Given the description of an element on the screen output the (x, y) to click on. 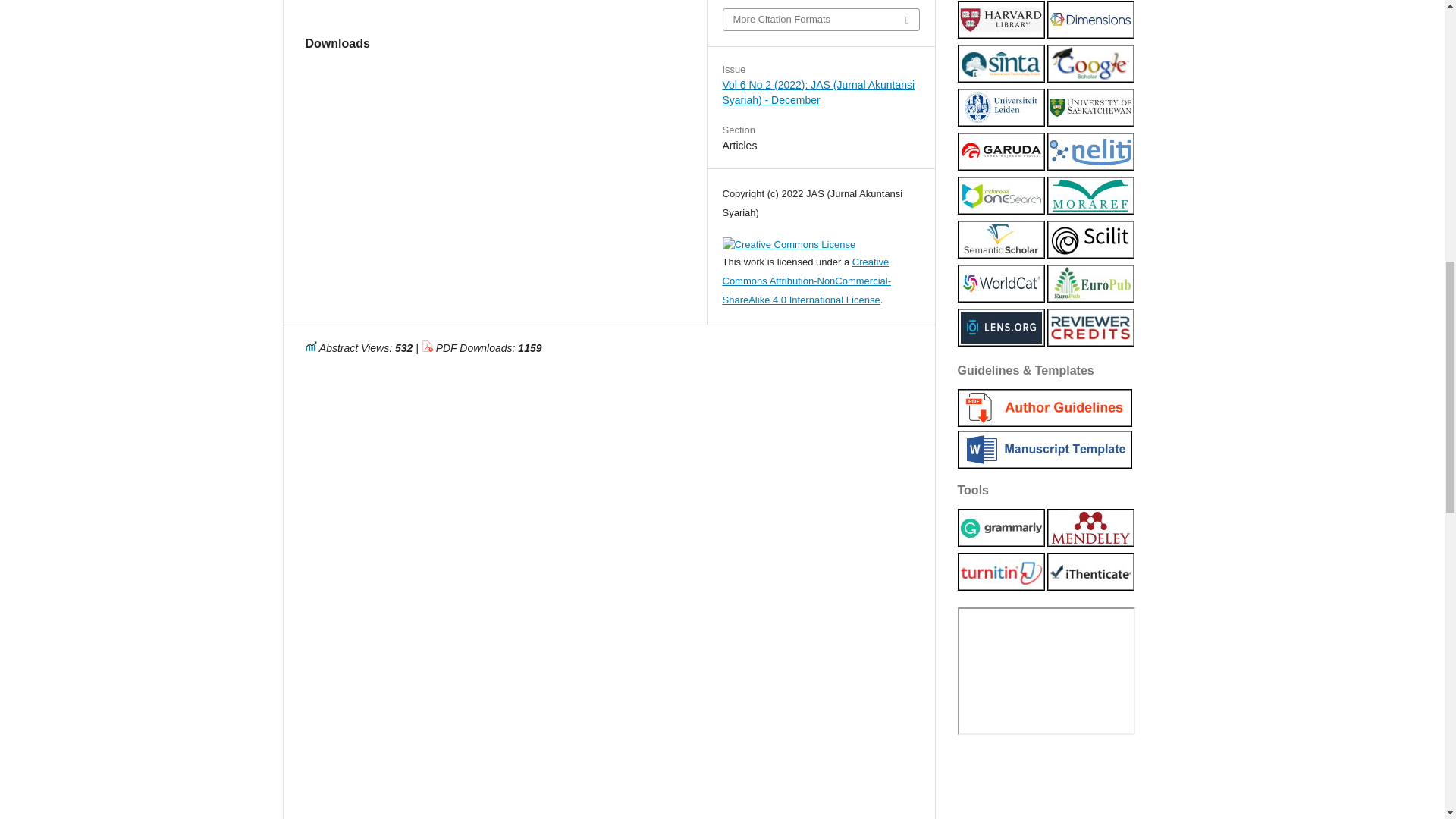
Indexing - Harvard Library (999, 34)
Indexing - Sinta (999, 78)
More Citation Formats (820, 19)
Indexing - Dimensions (1090, 34)
Indexing - Google Scholar (1090, 78)
Indexing - University of Saskatchewan (1090, 122)
Indexing - Universiteit Leiden (999, 122)
